Given the description of an element on the screen output the (x, y) to click on. 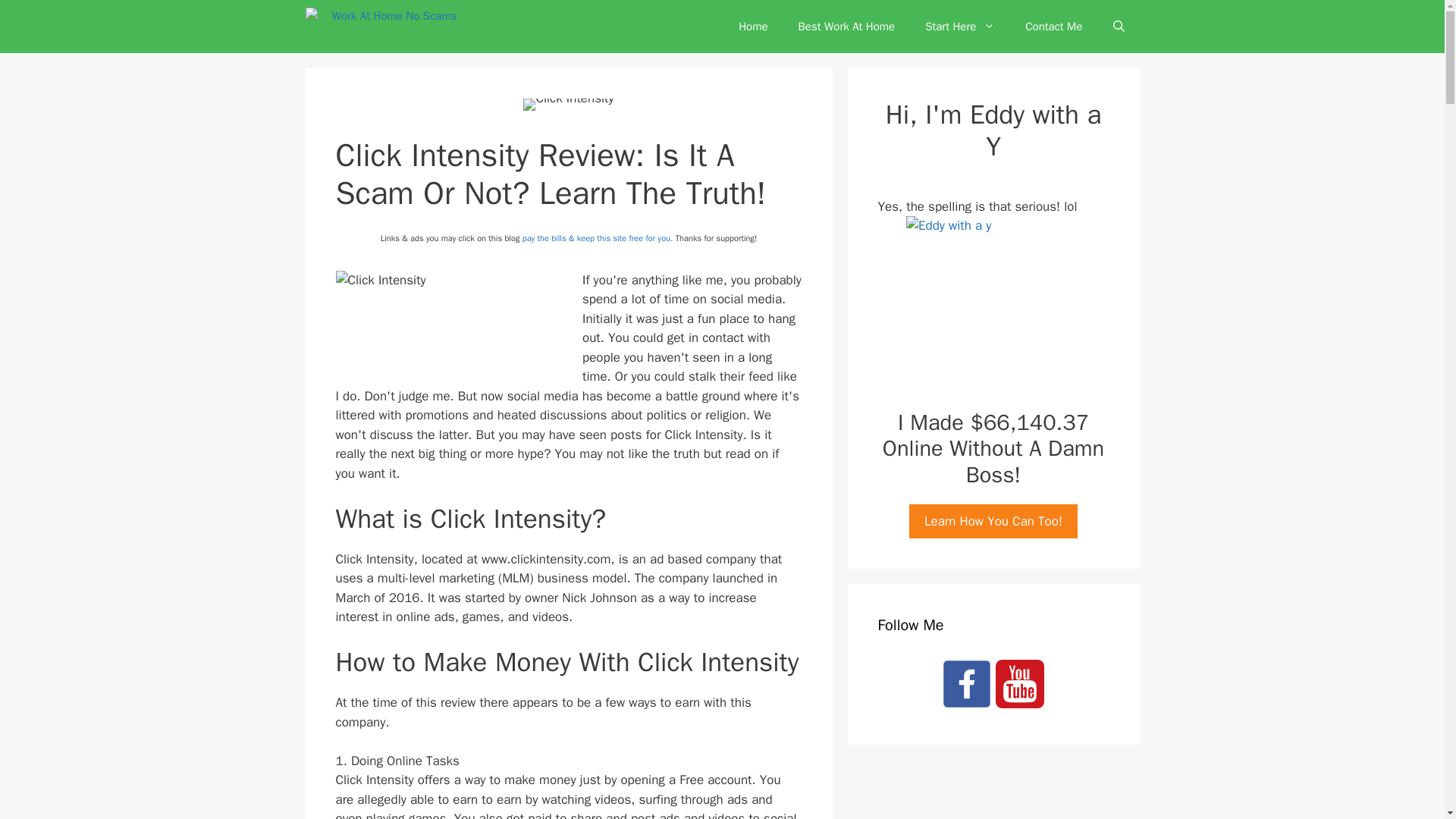
Best Work From Home Opportunity! (847, 26)
Best Work At Home (847, 26)
Work At Home No Scams (384, 26)
Work At Home No Scams (380, 26)
Home (753, 26)
Start Here (960, 26)
Contact Me (1053, 26)
